Given the description of an element on the screen output the (x, y) to click on. 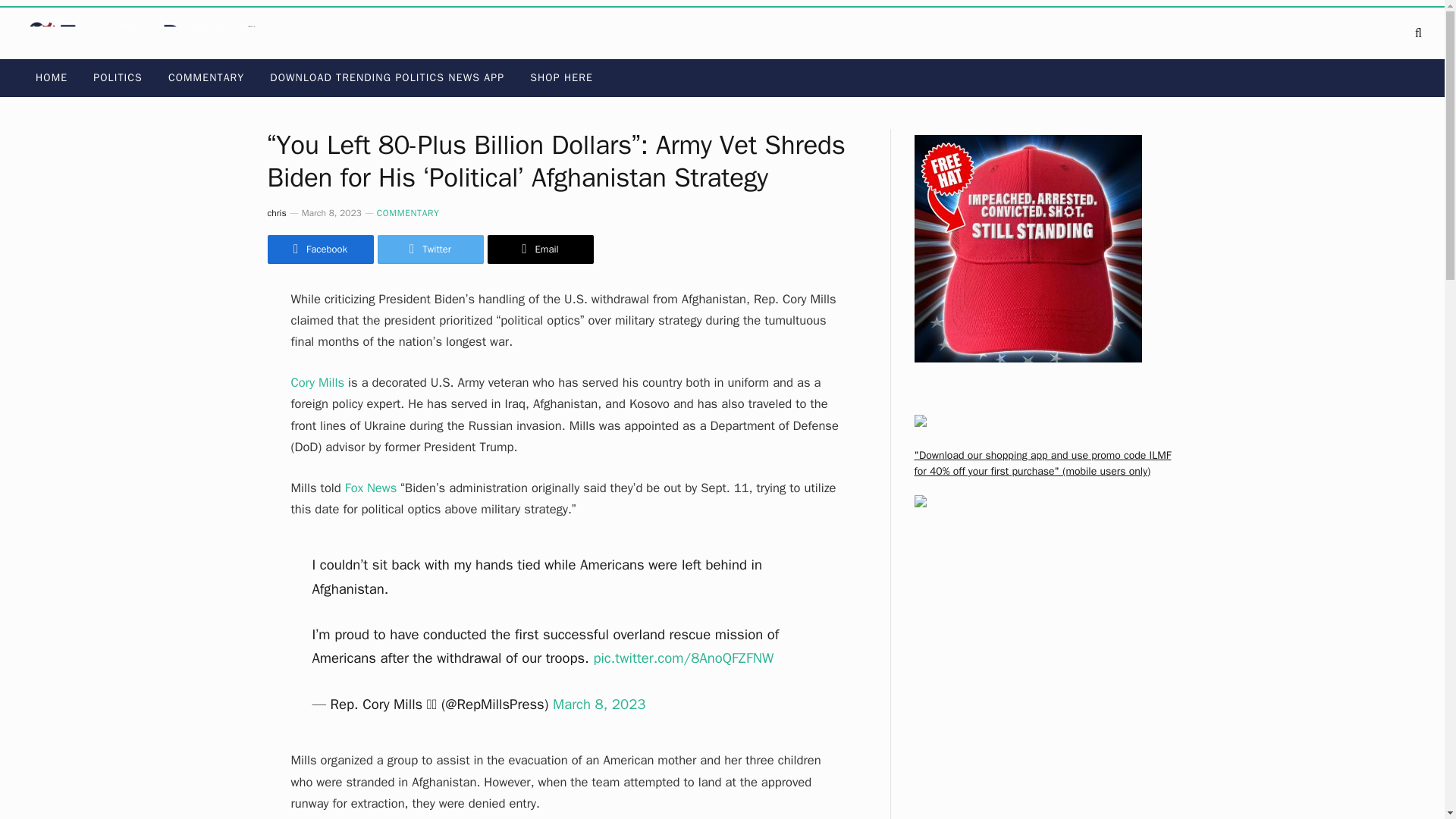
Email (539, 249)
March 8, 2023 (599, 704)
DOWNLOAD TRENDING POLITICS NEWS APP (386, 77)
Posts by chris (275, 213)
Cory Mills (318, 382)
Facebook (319, 249)
Trending Politics Conservative News and Commentary (145, 32)
Share via Email (539, 249)
Fox News (371, 487)
Twitter (430, 249)
chris (275, 213)
Share on Facebook (319, 249)
COMMENTARY (408, 213)
SHOP HERE (560, 77)
POLITICS (117, 77)
